Given the description of an element on the screen output the (x, y) to click on. 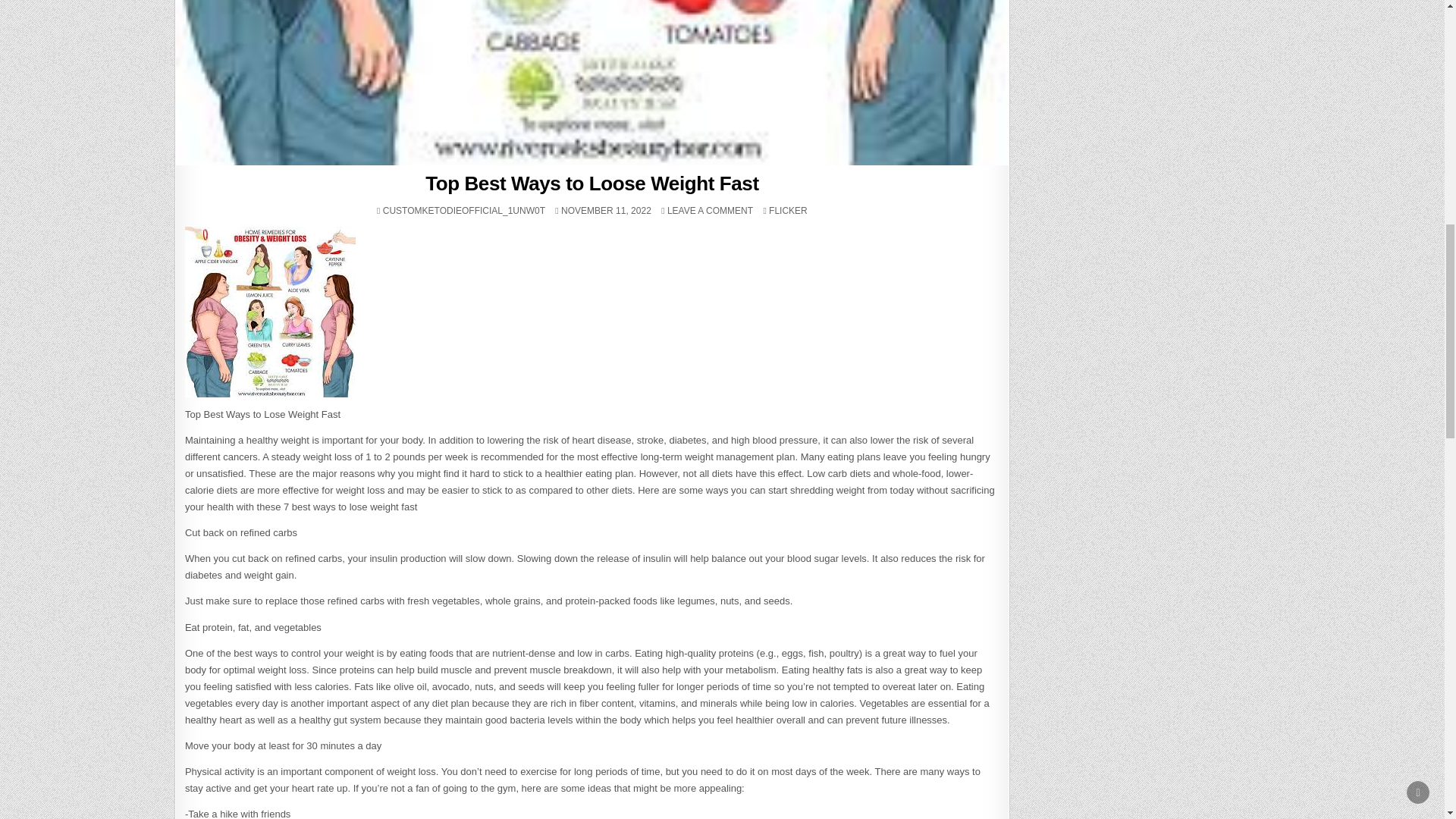
Permanent Link to Top Best Ways to Loose Weight Fast (709, 210)
Top Best Ways to Loose Weight Fast (788, 210)
